Given the description of an element on the screen output the (x, y) to click on. 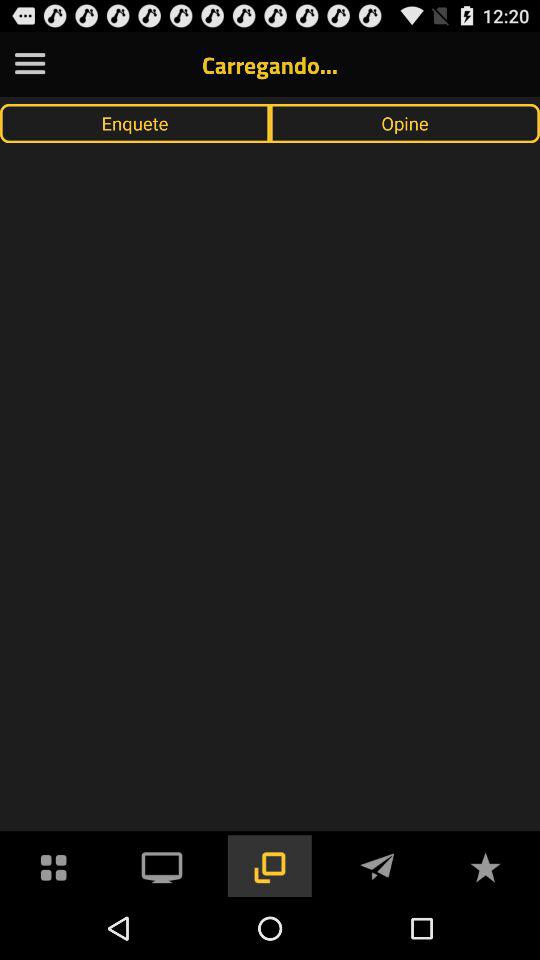
favorite (485, 865)
